Given the description of an element on the screen output the (x, y) to click on. 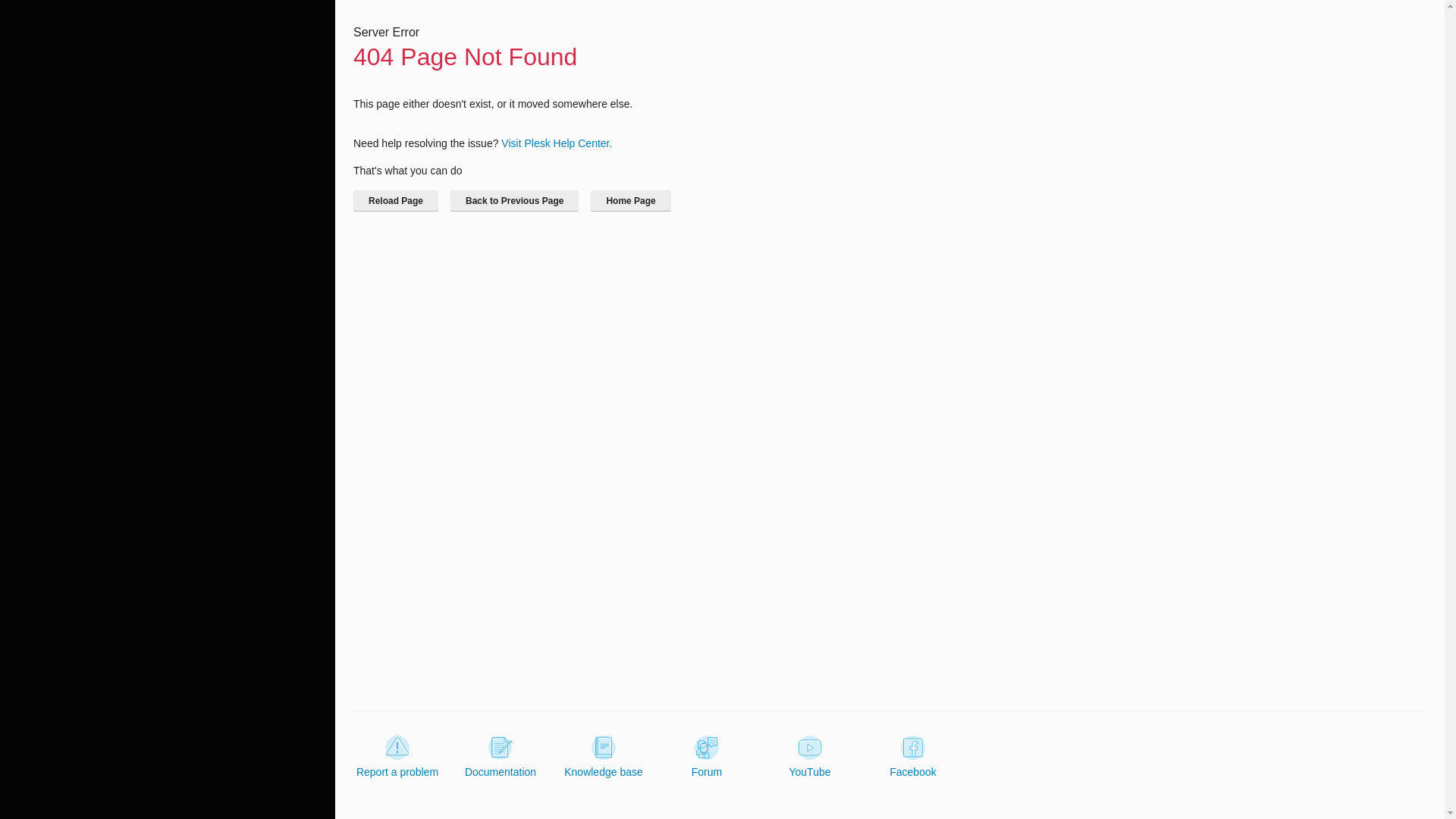
Report a problem (397, 757)
Facebook (912, 757)
Home Page (630, 200)
Forum (706, 757)
Visit Plesk Help Center. (555, 143)
Back to Previous Page (513, 200)
YouTube (809, 757)
Documentation (500, 757)
Knowledge base (603, 757)
Reload Page (395, 200)
